Given the description of an element on the screen output the (x, y) to click on. 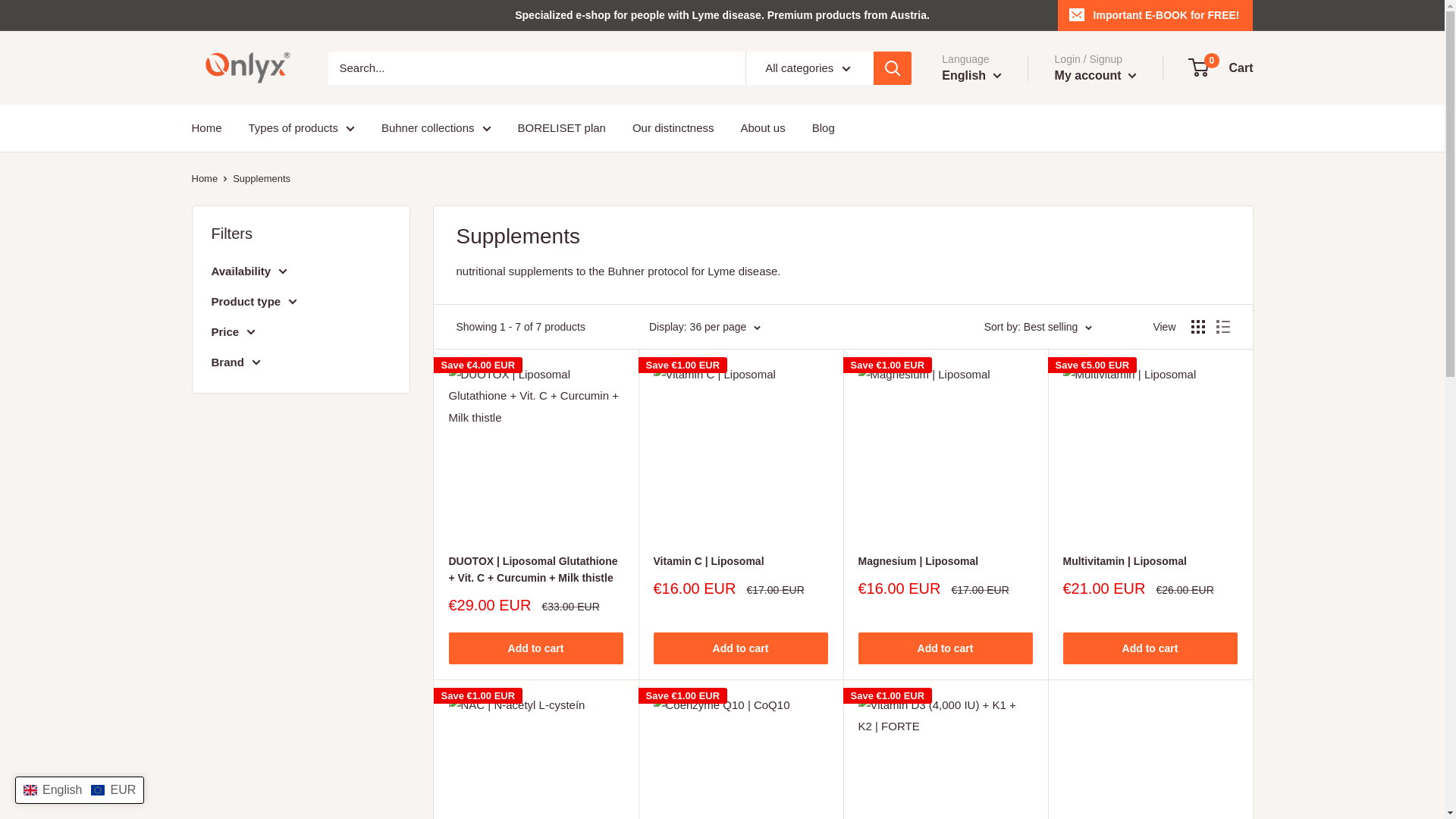
onlyx-com (243, 67)
Important E-BOOK for FREE! (1155, 15)
